Given the description of an element on the screen output the (x, y) to click on. 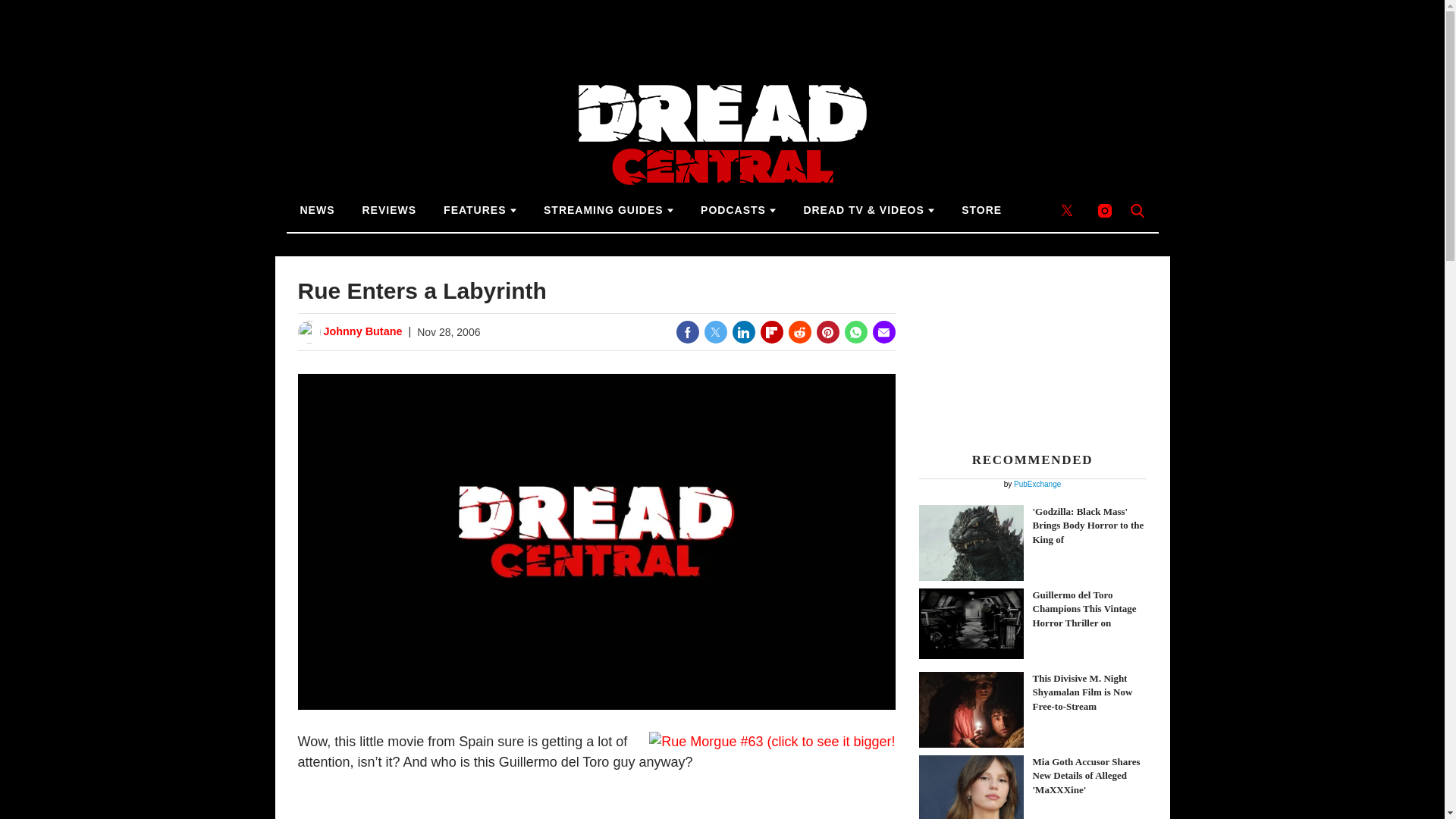
NEWS (317, 210)
REVIEWS (389, 210)
PODCASTS (738, 210)
Share on Reddit (799, 332)
Johnny Butane (362, 331)
Share on Flipboard (771, 332)
Posts by Johnny Butane (362, 331)
Advertisement (1032, 350)
STREAMING GUIDES (608, 210)
Share on Facebook (687, 332)
Share on LinkedIn (743, 332)
Share on Pinterest (826, 332)
Advertisement (595, 815)
Advertisement (721, 33)
FEATURES (479, 210)
